Given the description of an element on the screen output the (x, y) to click on. 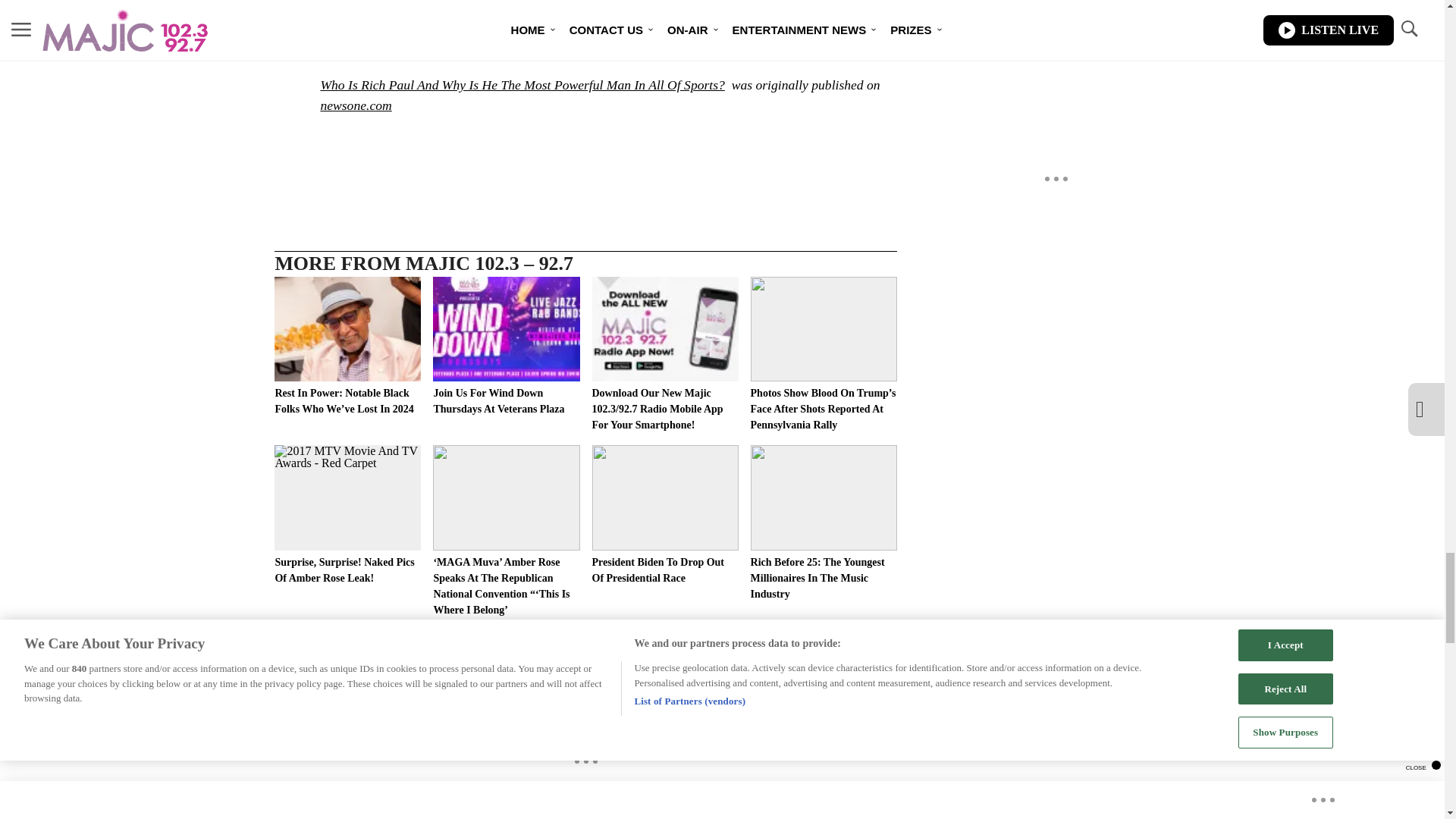
Vuukle Sharebar Widget (585, 151)
